Given the description of an element on the screen output the (x, y) to click on. 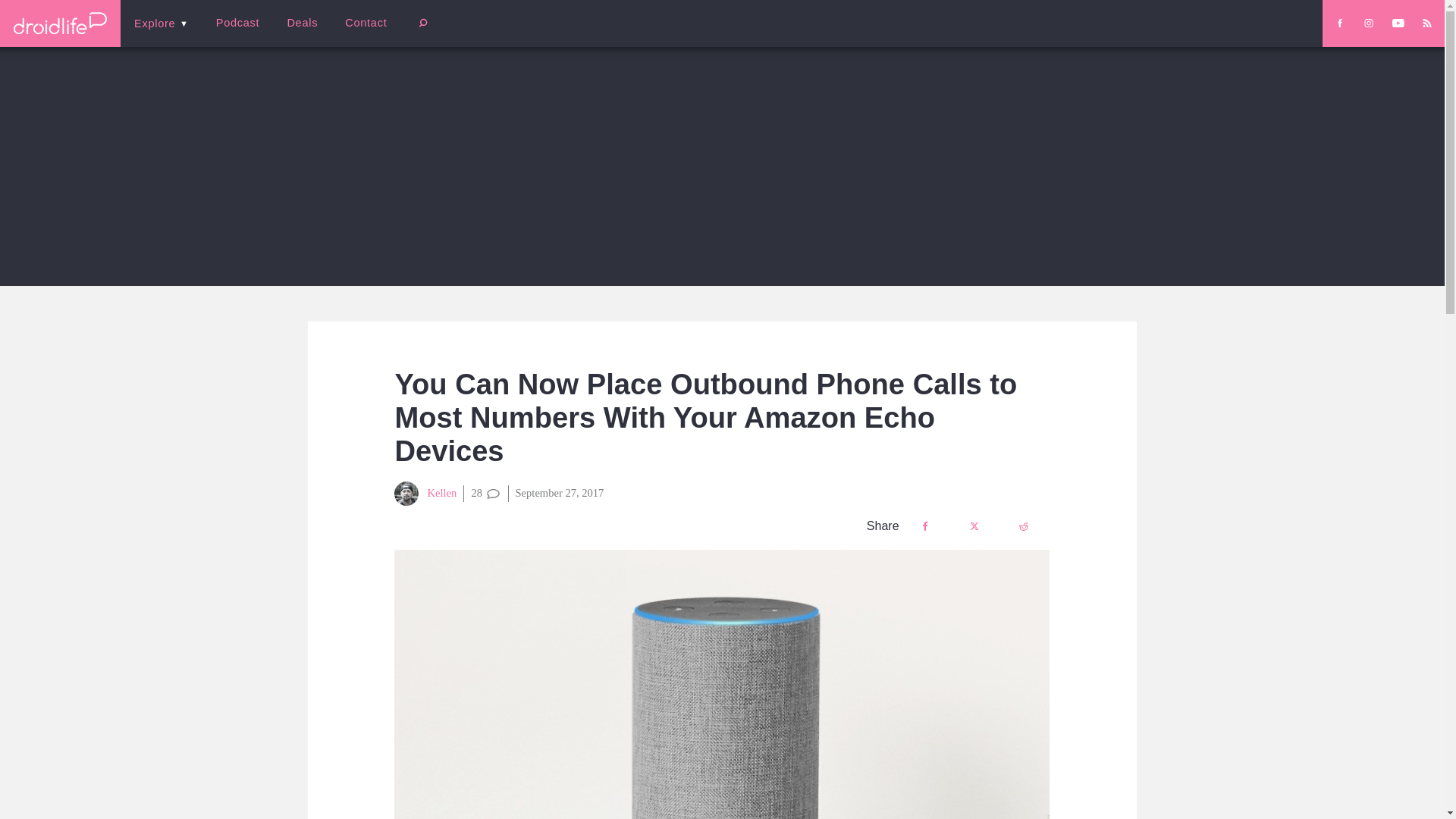
Kellen (425, 493)
Explore (161, 23)
Contact (365, 23)
Beginners' Guide (360, 33)
Droid Life RSS (1426, 23)
Podcast (237, 23)
Droid Life on Instagram (1368, 23)
Droid Life on YouTube (1398, 23)
Droid Life on Facebook (1339, 23)
Deals (302, 23)
